Given the description of an element on the screen output the (x, y) to click on. 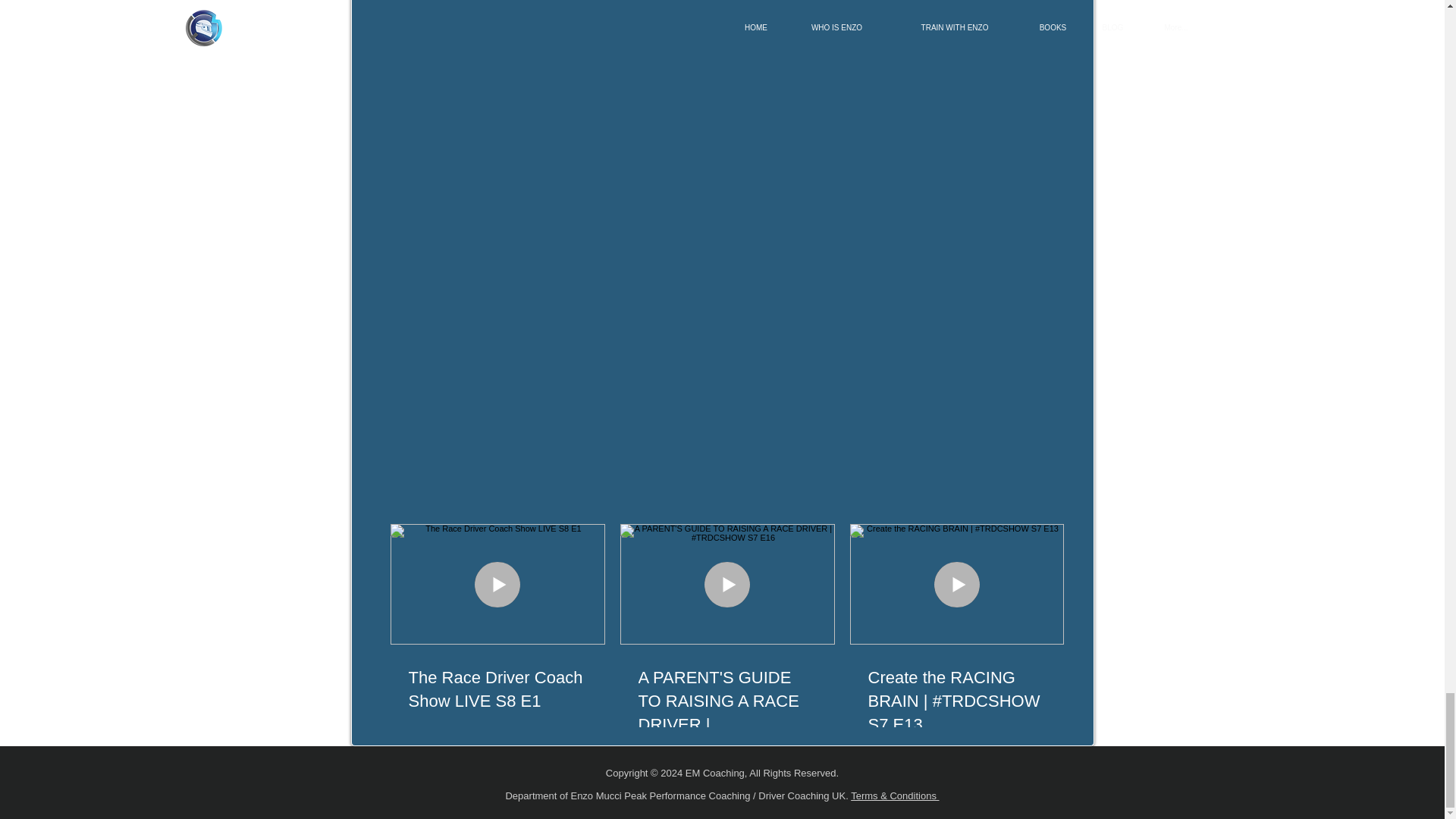
The Race Driver Coach Show LIVE S8 E1 (496, 689)
